Given the description of an element on the screen output the (x, y) to click on. 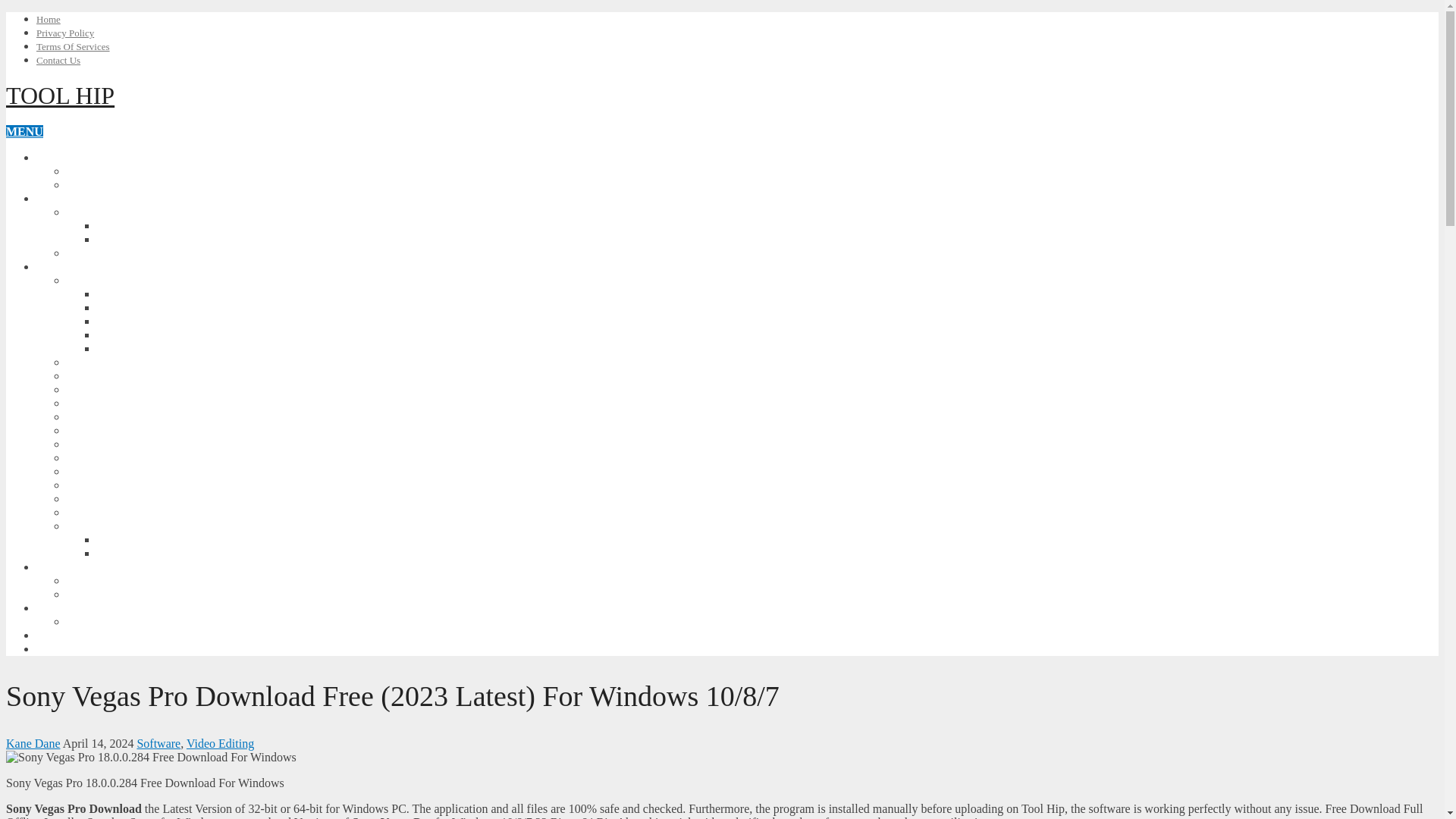
Privacy Policy (65, 32)
Contact Us (58, 60)
OPERATING SYSTEM (98, 566)
DRIVERS (93, 512)
MOBILE (60, 197)
SEO PLUGIN (103, 184)
View all posts in Video Editing (219, 743)
OTHERS (91, 525)
SEO (48, 156)
IPHONE (90, 252)
WEBCAM (125, 553)
SYSTEM TUNING (117, 402)
MULTIMEDIA (107, 375)
3D CAD (119, 293)
PHOTO EDITING (146, 334)
